Given the description of an element on the screen output the (x, y) to click on. 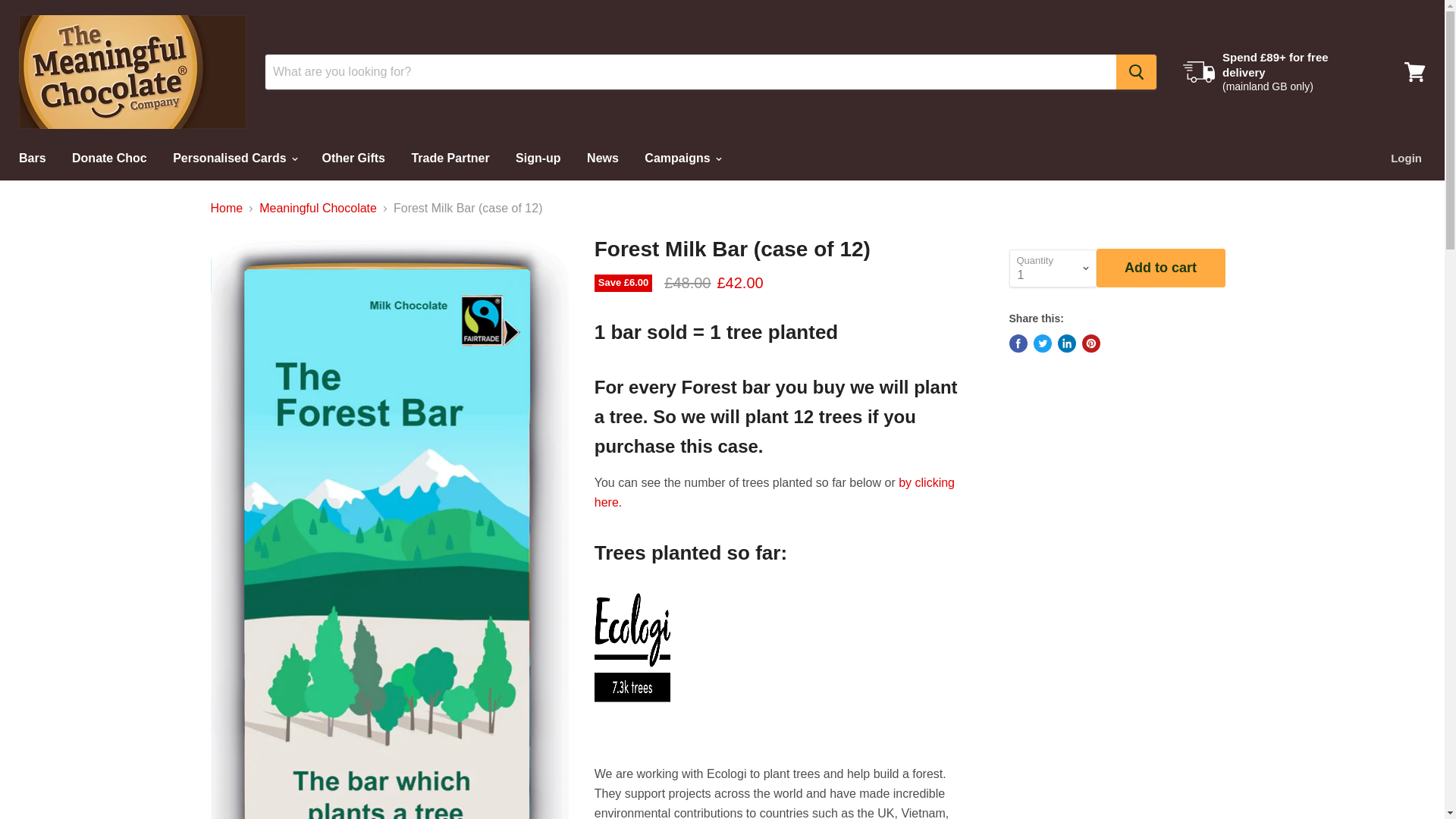
News (602, 158)
Campaigns (681, 158)
Bars (32, 158)
View cart (1414, 71)
Personalised Cards (234, 158)
Donate Choc (109, 158)
Other Gifts (353, 158)
Trade Partner (449, 158)
Sign-up (537, 158)
